Given the description of an element on the screen output the (x, y) to click on. 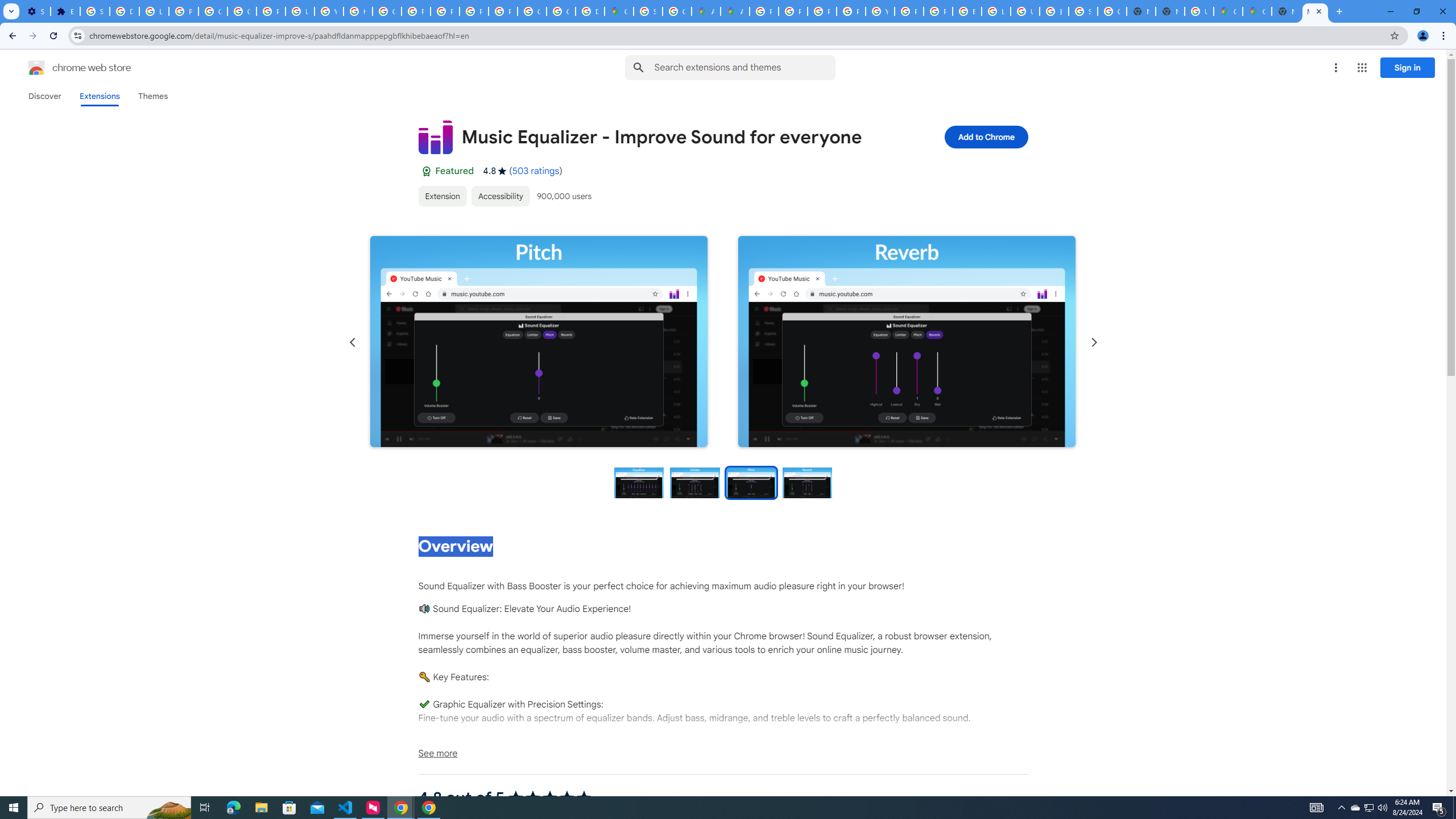
Preview slide 2 (694, 482)
Next slide (1093, 342)
Google Account Help (212, 11)
Chrome Web Store logo (36, 67)
Google Maps (1256, 11)
YouTube (879, 11)
Preview slide 4 (807, 482)
Google Maps (1227, 11)
Sign in - Google Accounts (1082, 11)
